Given the description of an element on the screen output the (x, y) to click on. 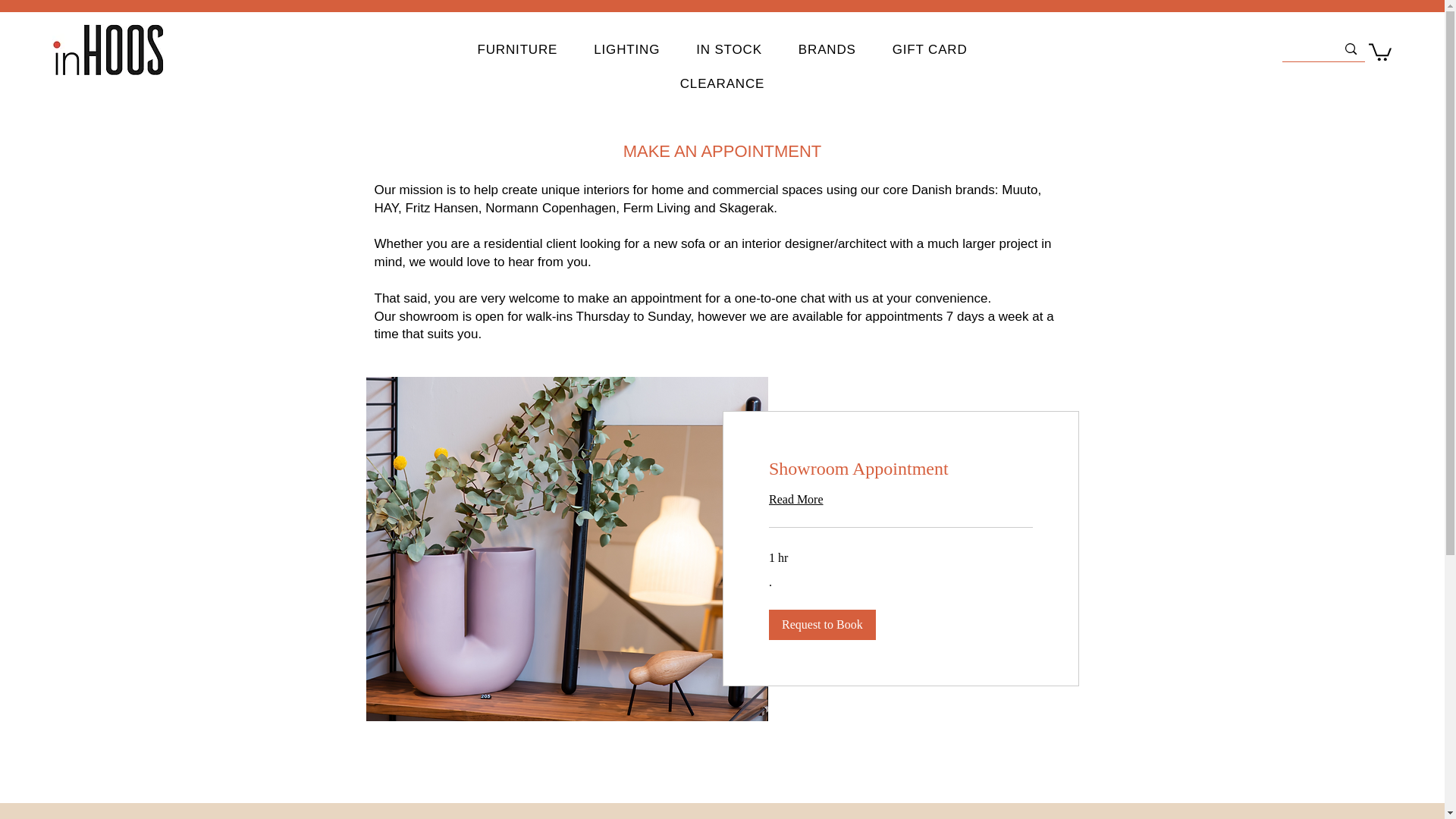
LIGHTING (626, 49)
CLEARANCE (722, 83)
GIFT CARD (929, 49)
IN STOCK (729, 49)
BRANDS (826, 49)
FURNITURE (518, 49)
